Given the description of an element on the screen output the (x, y) to click on. 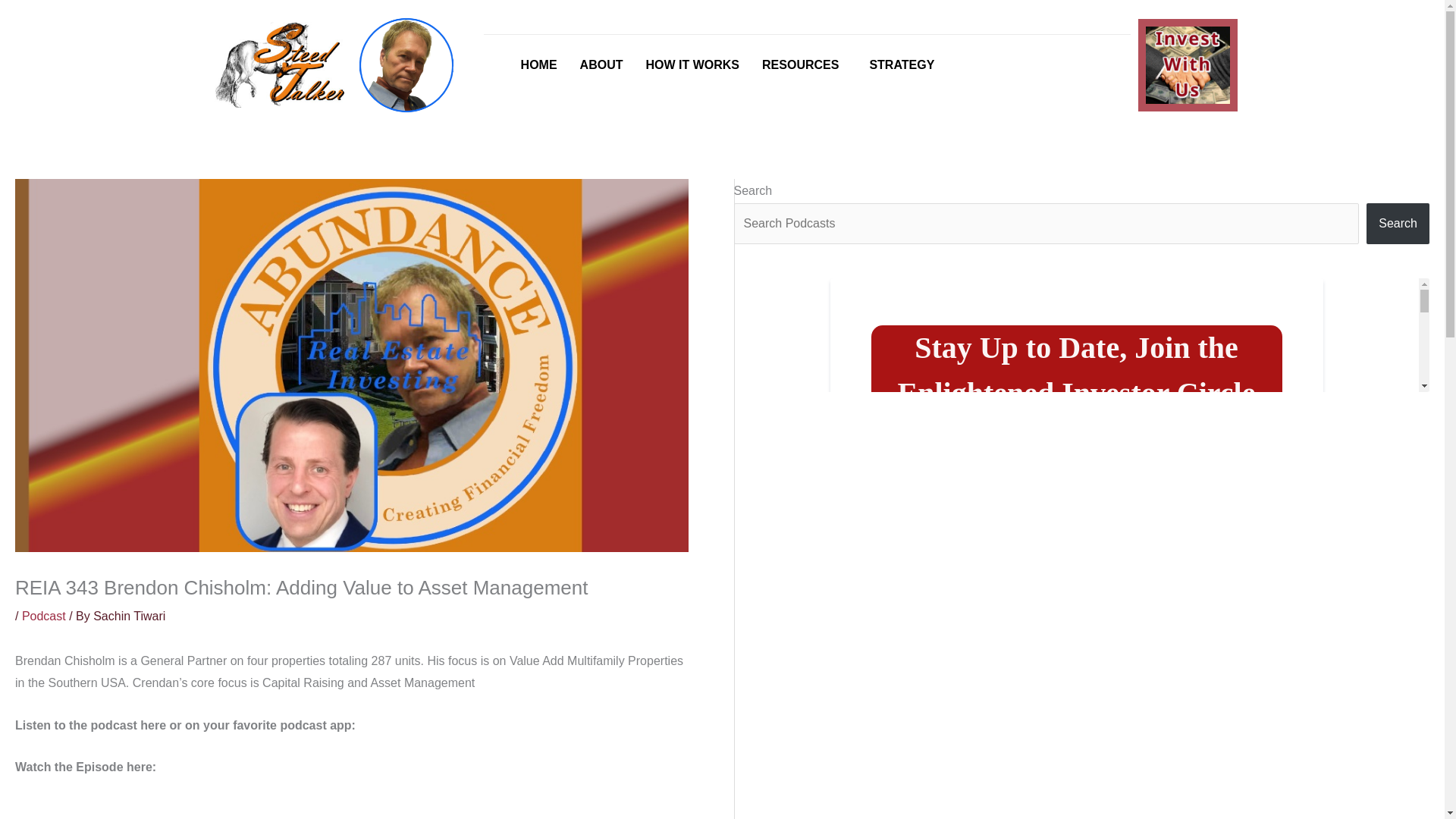
ABOUT (601, 65)
STRATEGY (900, 65)
Sachin Tiwari (129, 615)
Search (1398, 223)
General Lead Generation (1081, 335)
Podcast (43, 615)
RESOURCES (804, 65)
HOME (539, 65)
HOW IT WORKS (692, 65)
Header (1187, 65)
REIA 343 Brendon Chisholm: Adding Value to Asset Management (351, 808)
View all posts by Sachin Tiwari (129, 615)
